Given the description of an element on the screen output the (x, y) to click on. 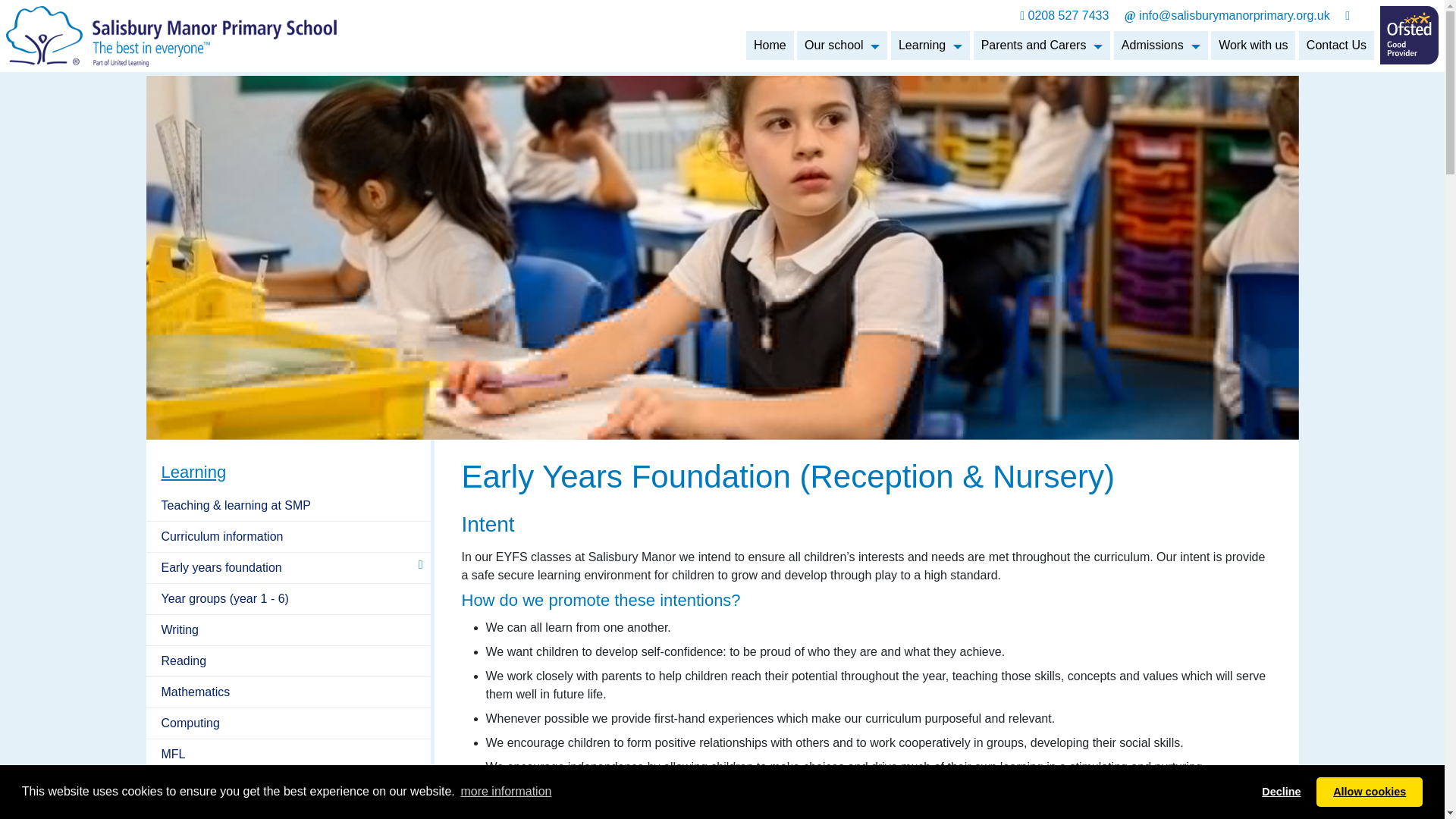
Our school (841, 45)
Allow cookies (1369, 791)
0208 527 7433 (1066, 15)
more information (505, 791)
Phone (1066, 15)
Email (1228, 15)
Home (769, 45)
Learning (930, 45)
Salisbury Manor Primary School (171, 34)
Decline (1281, 791)
